Given the description of an element on the screen output the (x, y) to click on. 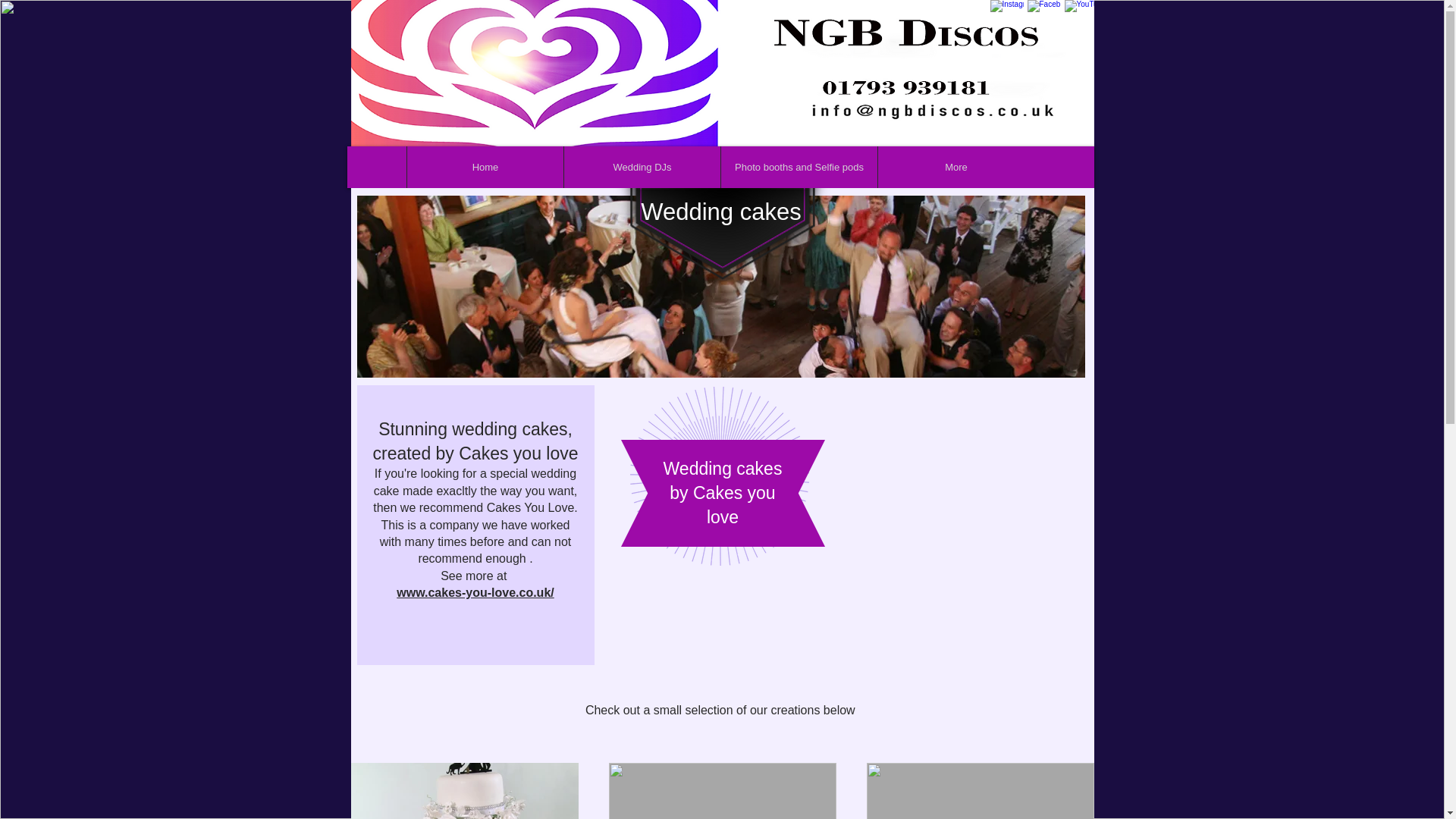
Home (484, 167)
Wedding DJs (641, 167)
Photo booths and Selfie pods (798, 167)
